Given the description of an element on the screen output the (x, y) to click on. 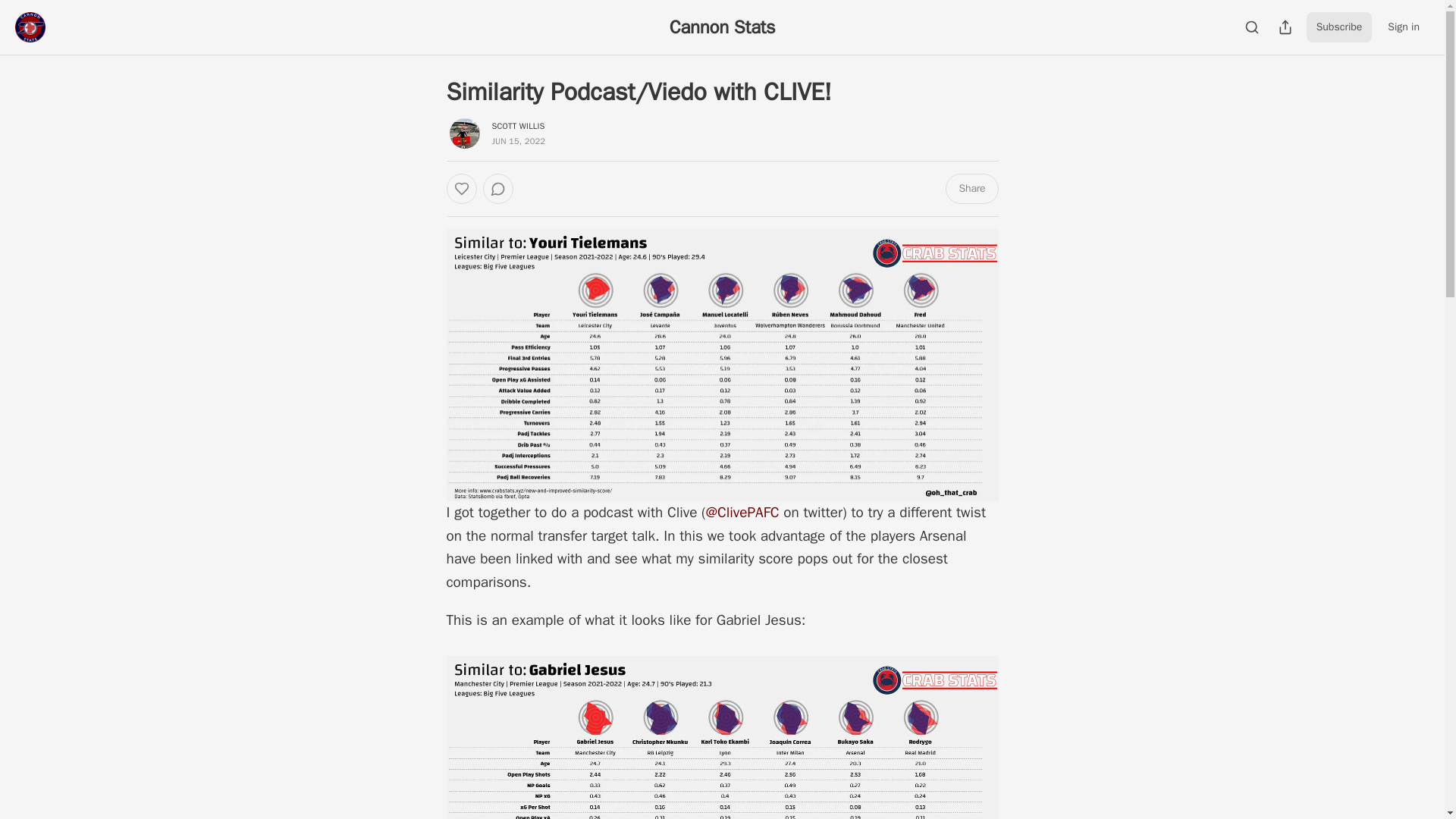
Sign in (1403, 27)
SCOTT WILLIS (518, 125)
Share (970, 188)
Subscribe (1339, 27)
Cannon Stats (722, 26)
